Given the description of an element on the screen output the (x, y) to click on. 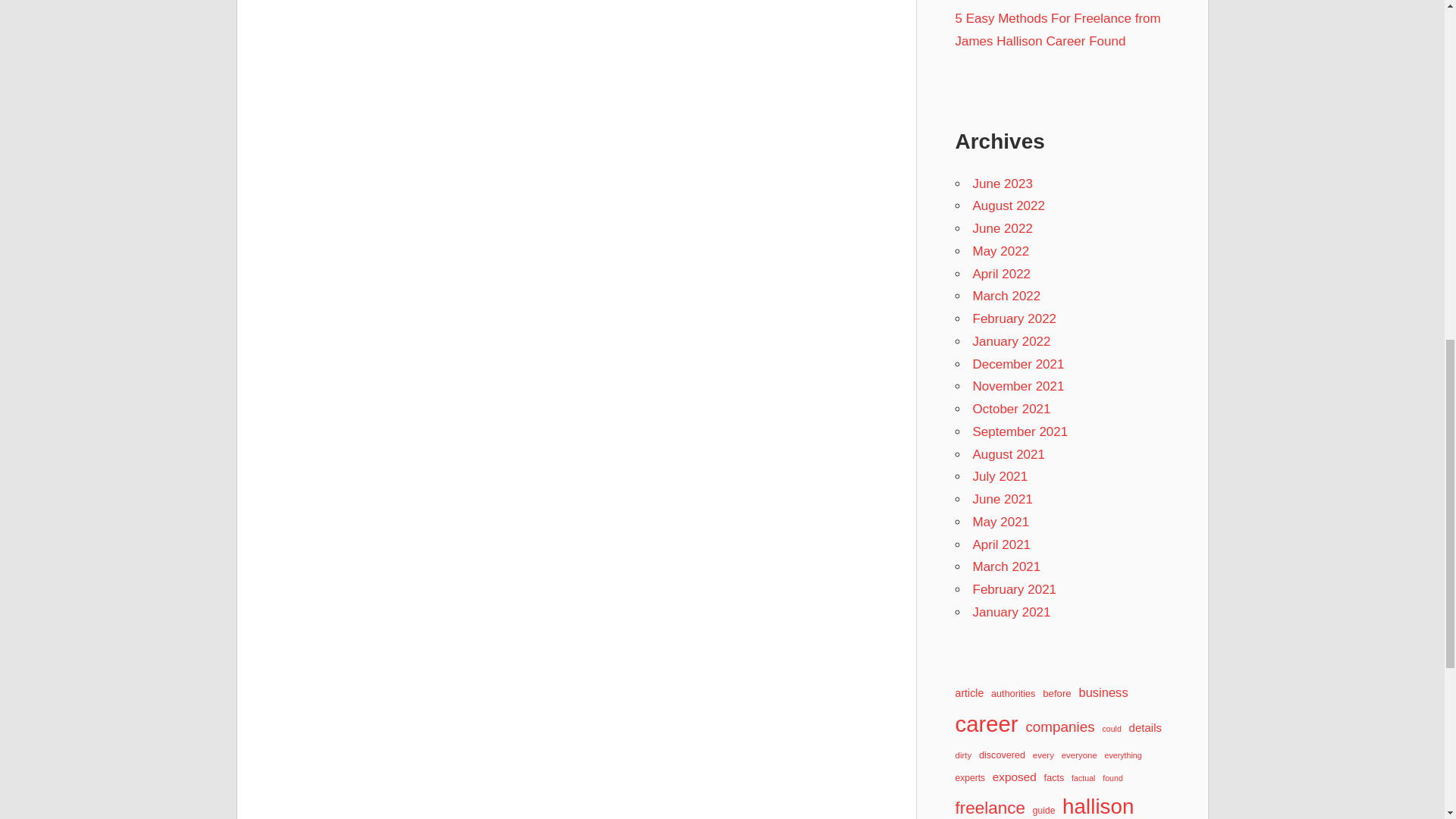
August 2021 (1007, 454)
March 2021 (1006, 566)
July 2021 (999, 476)
April 2022 (1001, 273)
article (969, 692)
June 2021 (1002, 499)
January 2021 (1010, 612)
June 2022 (1002, 228)
April 2021 (1001, 544)
